Given the description of an element on the screen output the (x, y) to click on. 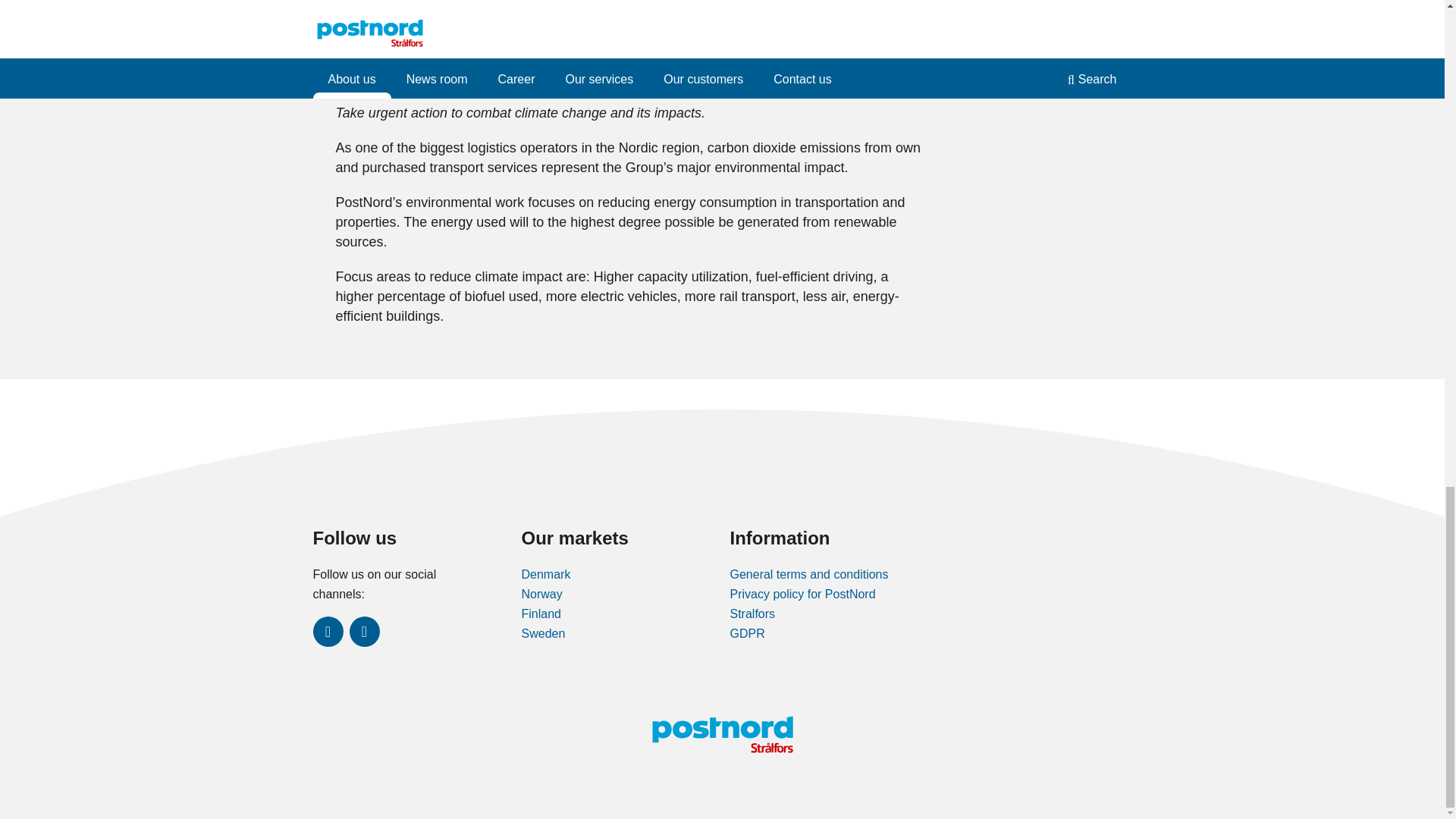
Finland (540, 613)
Privacy policy for PostNord Stralfors (802, 603)
GDPR (746, 633)
Denmark (545, 574)
Norway (541, 594)
Sweden (543, 633)
General terms and conditions (808, 574)
